Given the description of an element on the screen output the (x, y) to click on. 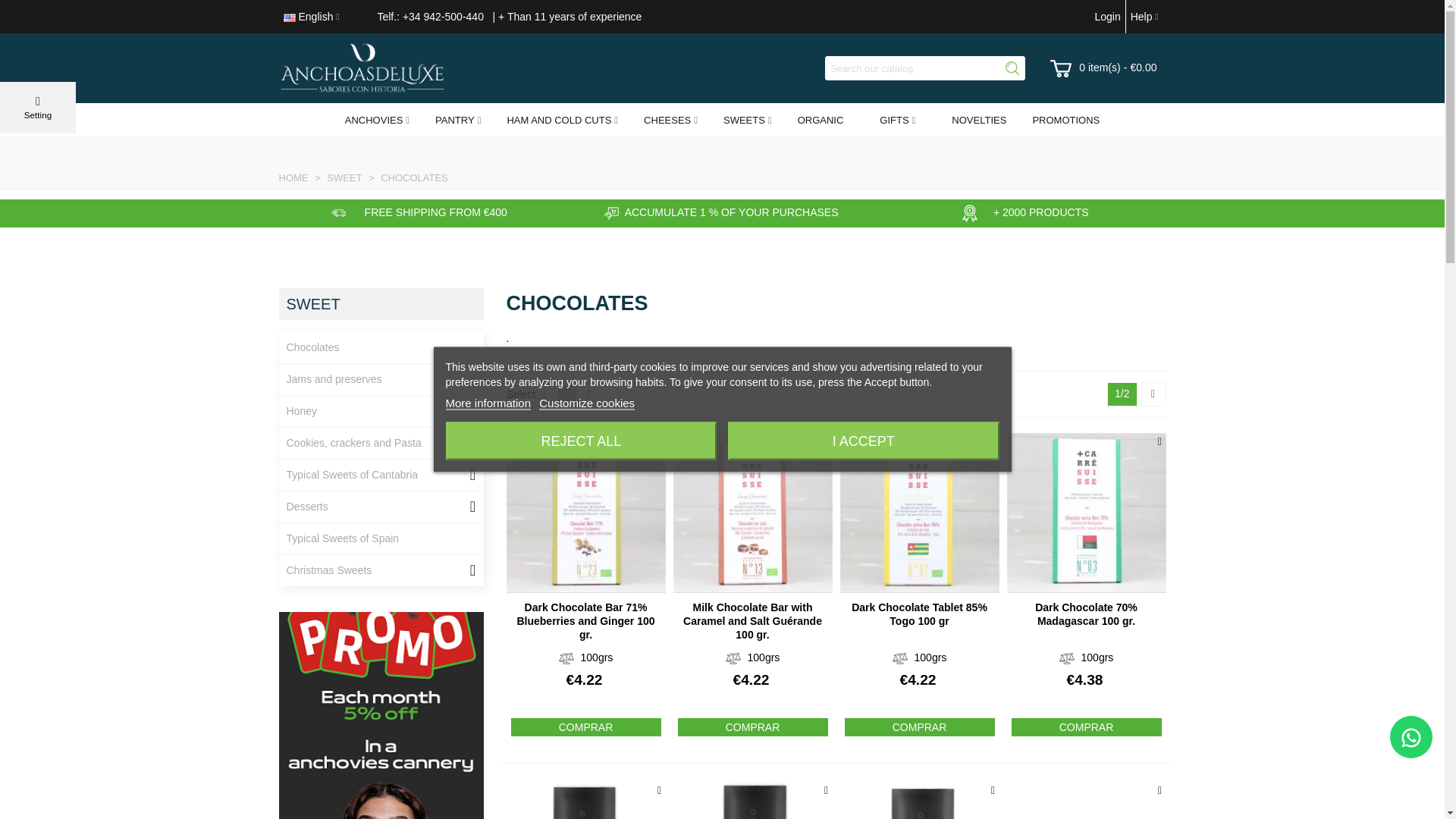
ANCHOVIES (377, 119)
Login (1106, 16)
AnchoasDeluxe (362, 67)
PANTRY (458, 119)
ANCHOVIES (377, 119)
Iberian ham, Shoulder and Sausages (562, 119)
View my shopping cart (1103, 68)
Cheeses (670, 119)
942-500-440 (453, 16)
SWEET (747, 119)
ECOLOGICAL (821, 119)
Log in to your customer account (1106, 16)
